Given the description of an element on the screen output the (x, y) to click on. 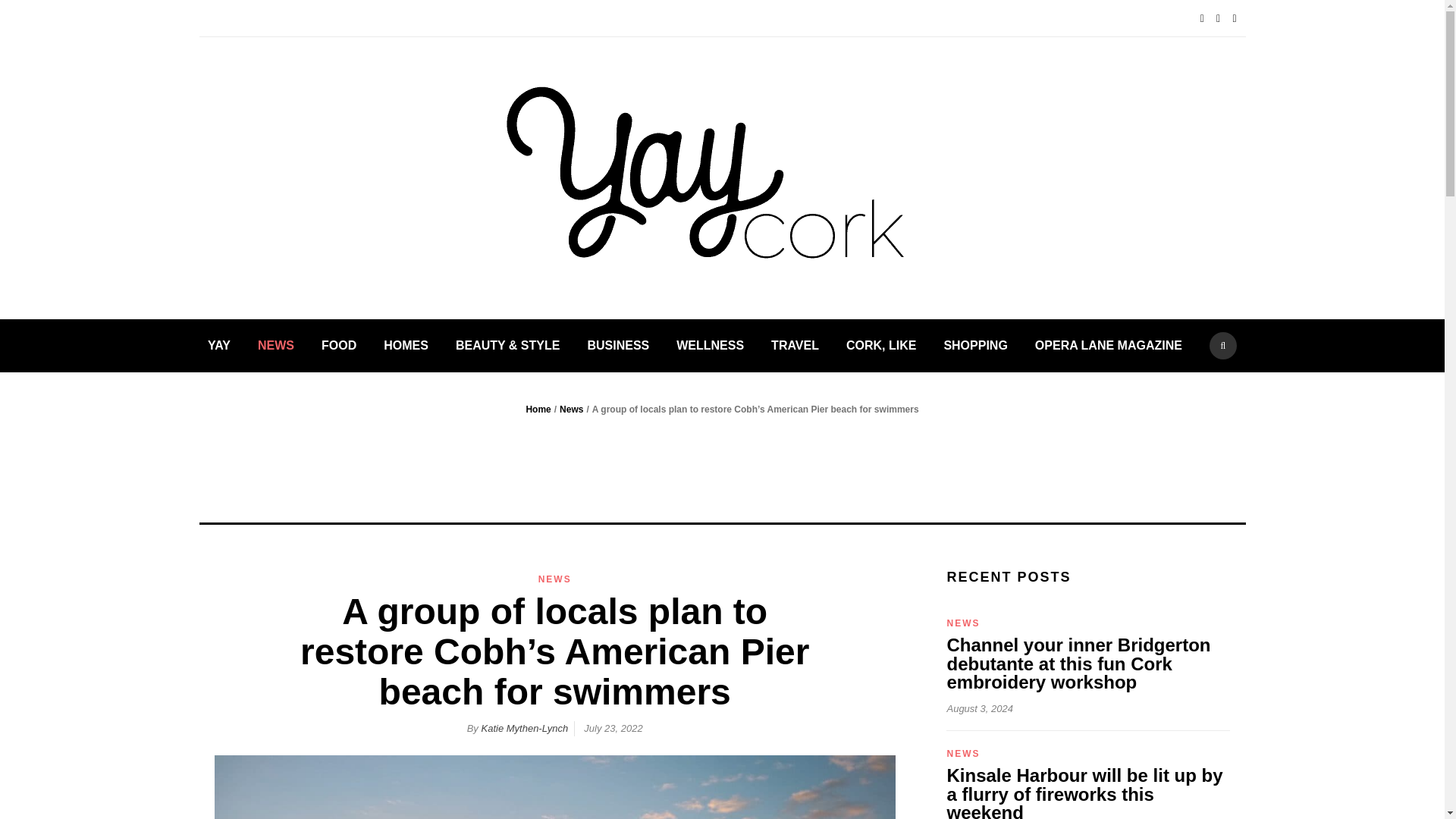
SHOPPING (975, 345)
TRAVEL (794, 345)
WELLNESS (710, 345)
Home (537, 409)
YAY (219, 345)
OPERA LANE MAGAZINE (1108, 345)
NEWS (275, 345)
Katie Mythen-Lynch (523, 727)
NEWS (555, 579)
BUSINESS (617, 345)
HOMES (406, 345)
Facebook (1205, 18)
FOOD (338, 345)
Instagram (1237, 18)
View all posts by Katie Mythen-Lynch (523, 727)
